Given the description of an element on the screen output the (x, y) to click on. 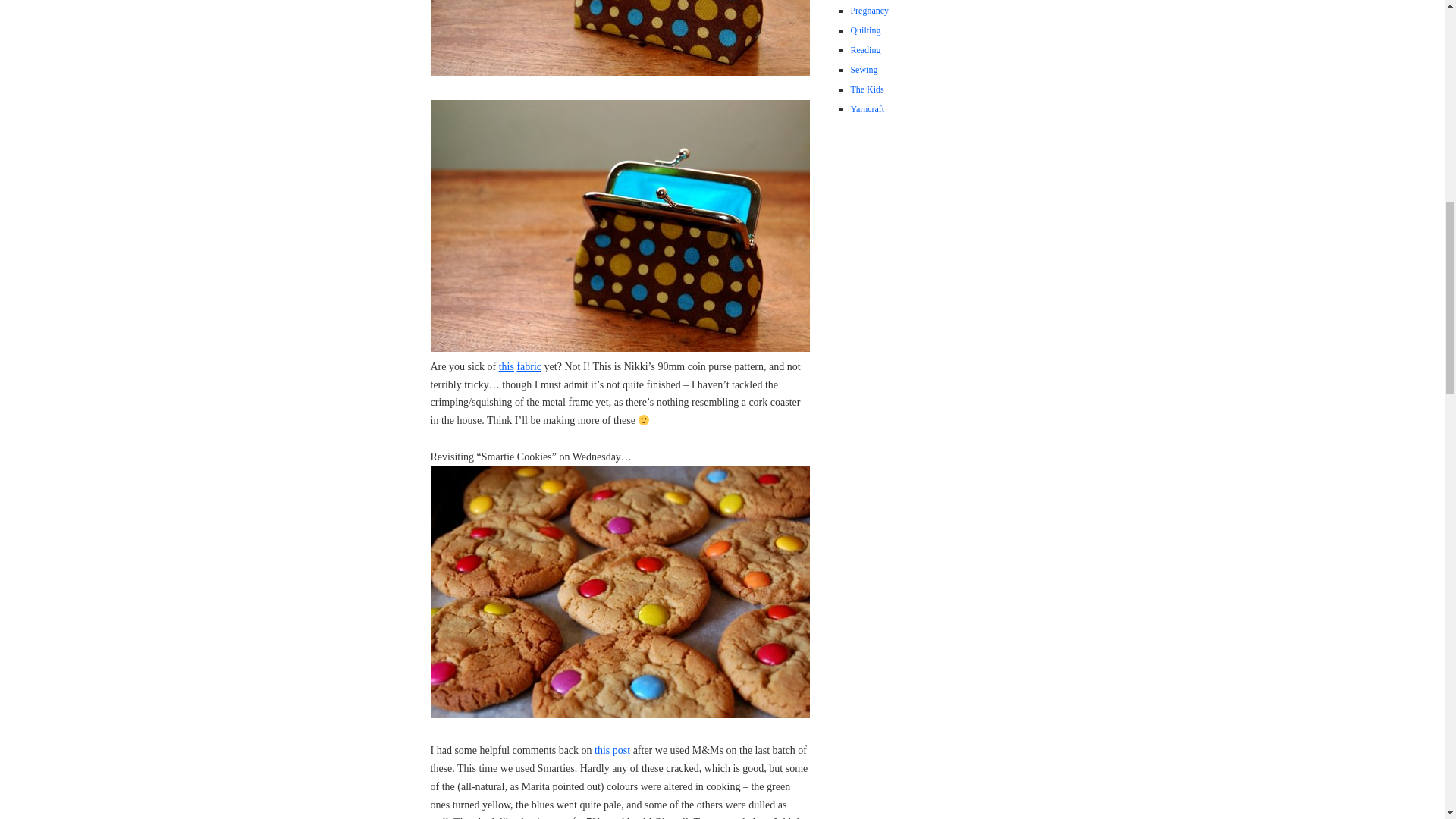
Purse01b (619, 225)
SmartieCookies (619, 592)
this post (612, 749)
Purse01a (619, 38)
this (506, 366)
fabric (528, 366)
